Given the description of an element on the screen output the (x, y) to click on. 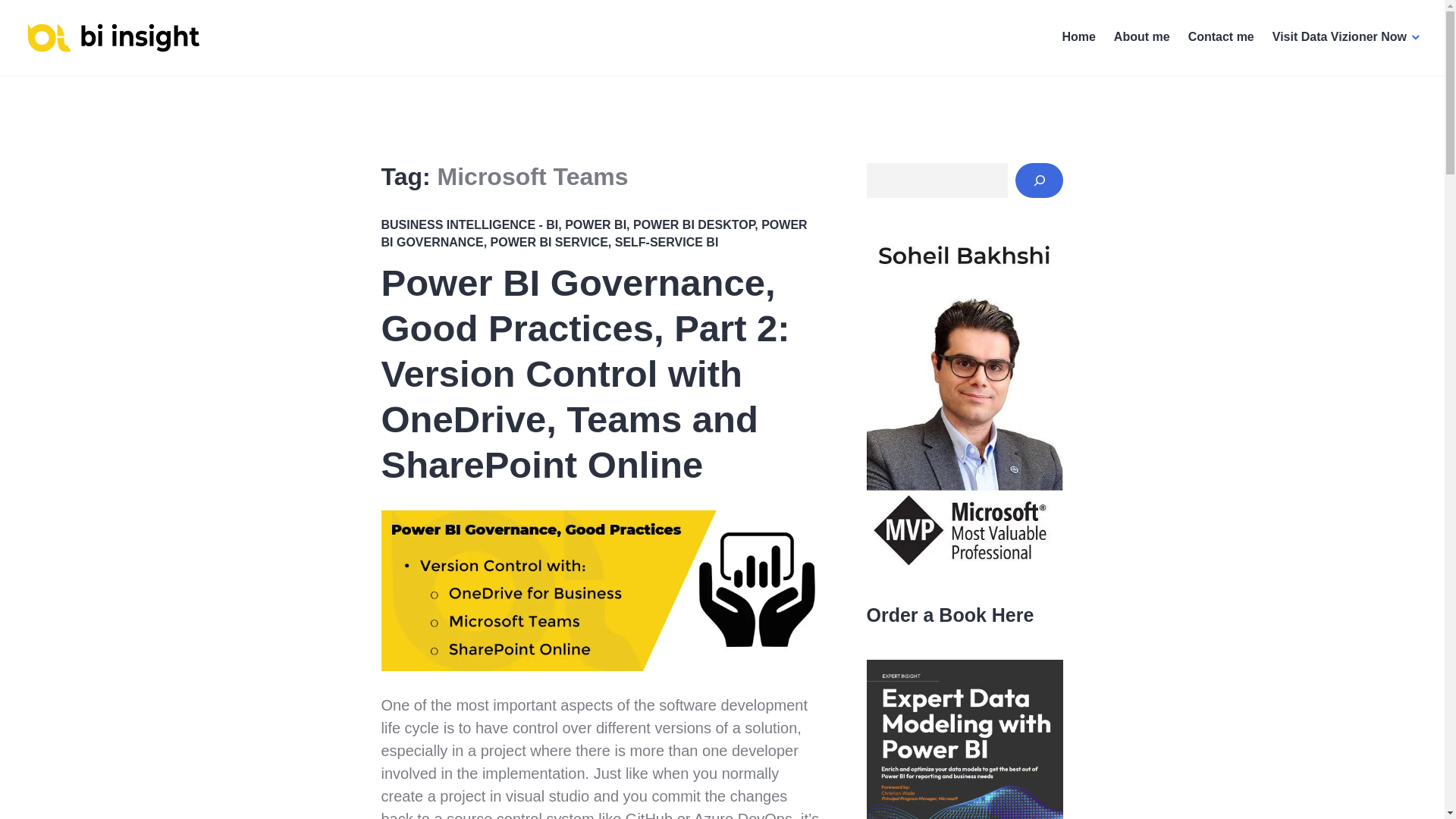
BI Insight (66, 74)
Visit Data Vizioner Now (1347, 37)
POWER BI SERVICE (549, 241)
About me (1141, 37)
POWER BI DESKTOP (693, 224)
Contact me (1220, 37)
POWER BI GOVERNANCE (593, 233)
SELF-SERVICE BI (666, 241)
Home (1077, 37)
POWER BI (595, 224)
BUSINESS INTELLIGENCE - BI (468, 224)
